Given the description of an element on the screen output the (x, y) to click on. 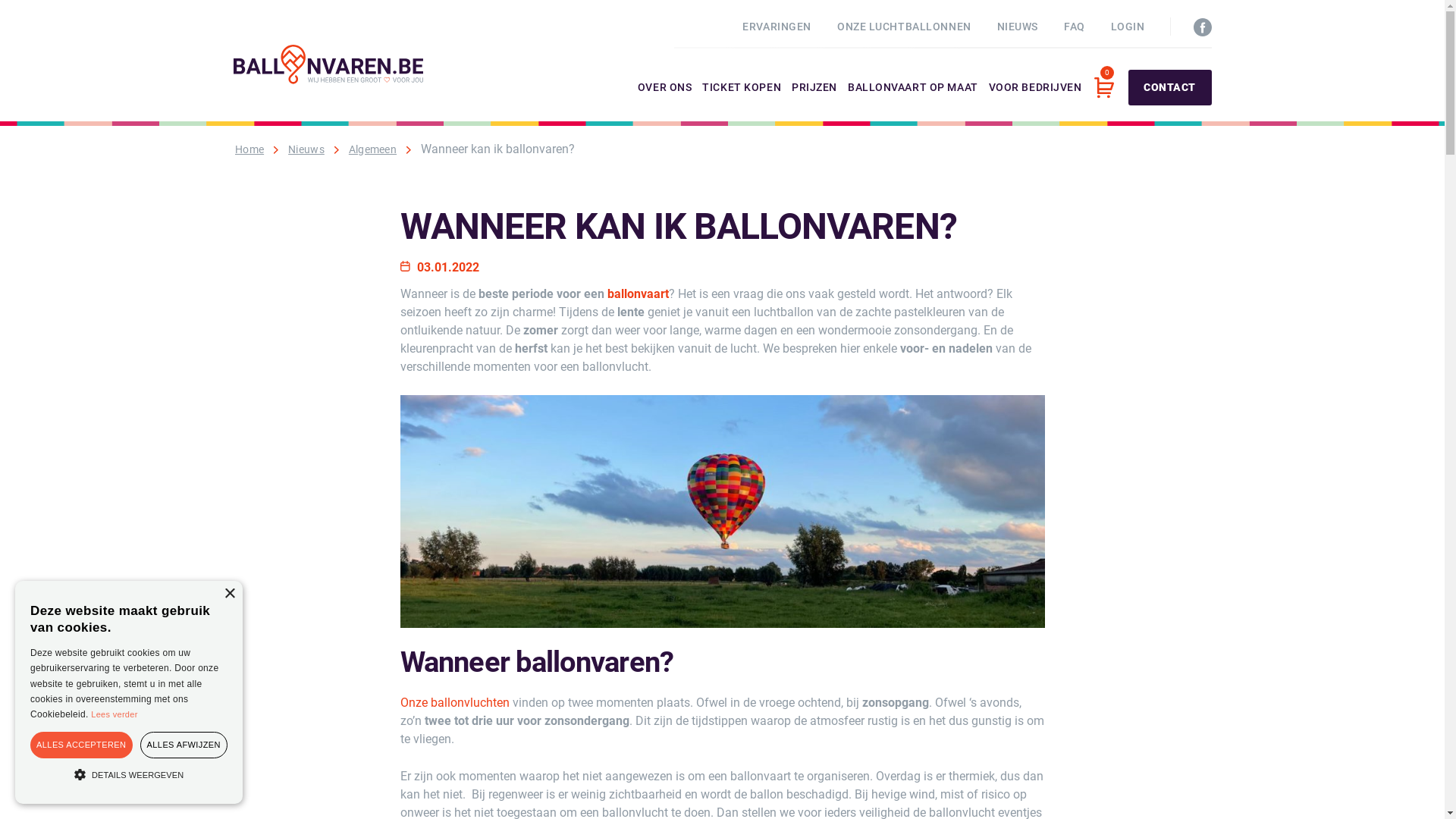
PRIJZEN Element type: text (814, 101)
Onze ballonvluchten Element type: text (454, 702)
ballonvaart Element type: text (637, 294)
ONZE LUCHTBALLONNEN Element type: text (904, 26)
OVER ONS Element type: text (664, 101)
CONTACT Element type: text (1169, 87)
Algemeen Element type: text (372, 149)
logo Element type: hover (328, 64)
ERVARINGEN Element type: text (776, 26)
TICKET KOPEN Element type: text (741, 101)
Home Element type: text (249, 149)
BALLONVAART OP MAAT Element type: text (912, 101)
LOGIN Element type: text (1127, 26)
VOOR BEDRIJVEN Element type: text (1035, 101)
FAQ Element type: text (1074, 26)
NIEUWS Element type: text (1017, 26)
Lees verder Element type: text (114, 713)
0 Element type: text (1103, 87)
Nieuws Element type: text (306, 149)
